Given the description of an element on the screen output the (x, y) to click on. 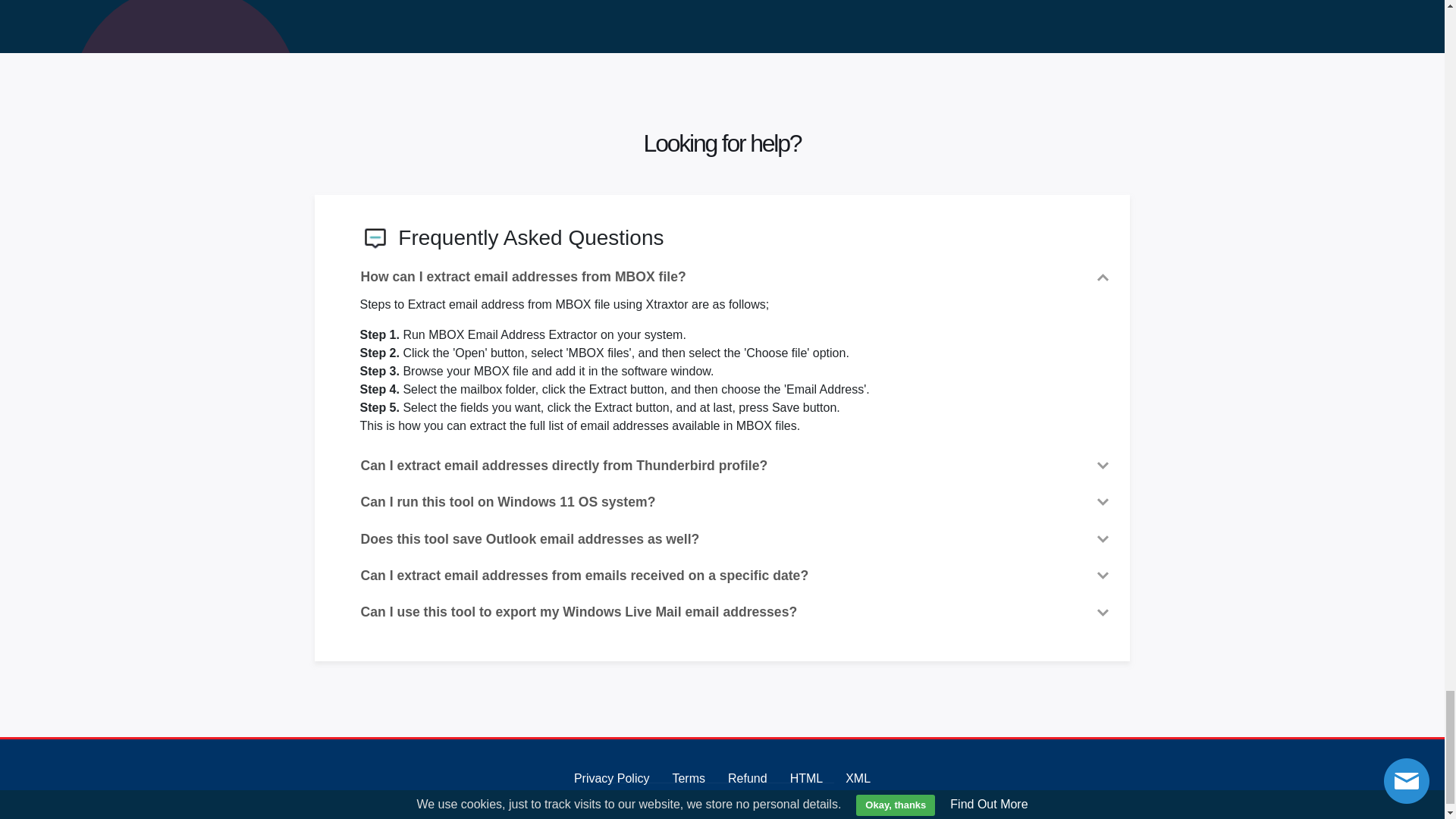
Does this tool save Outlook email addresses as well? (735, 538)
Terms (687, 778)
Refund (747, 778)
How can I extract email addresses from MBOX file? (735, 276)
Can I run this tool on Windows 11 OS system? (735, 502)
XML (857, 778)
Privacy Policy (611, 778)
